Given the description of an element on the screen output the (x, y) to click on. 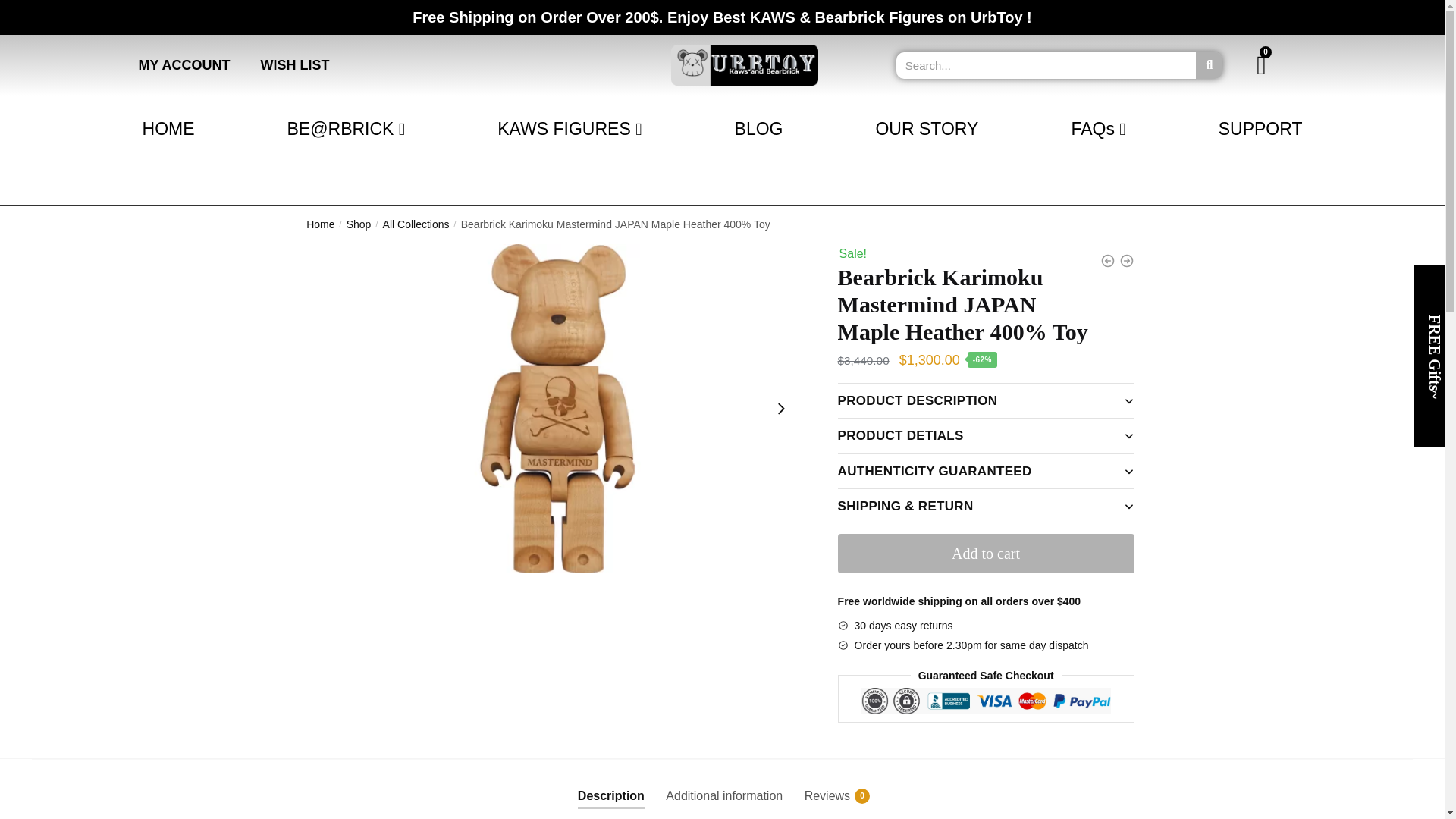
BLOG (759, 129)
Search (1045, 64)
Search (1209, 64)
KAWS FIGURES (569, 129)
WISH LIST (295, 64)
HOME (168, 129)
FAQs (1098, 129)
OUR STORY (926, 129)
MY ACCOUNT (183, 64)
SUPPORT (1260, 129)
